Given the description of an element on the screen output the (x, y) to click on. 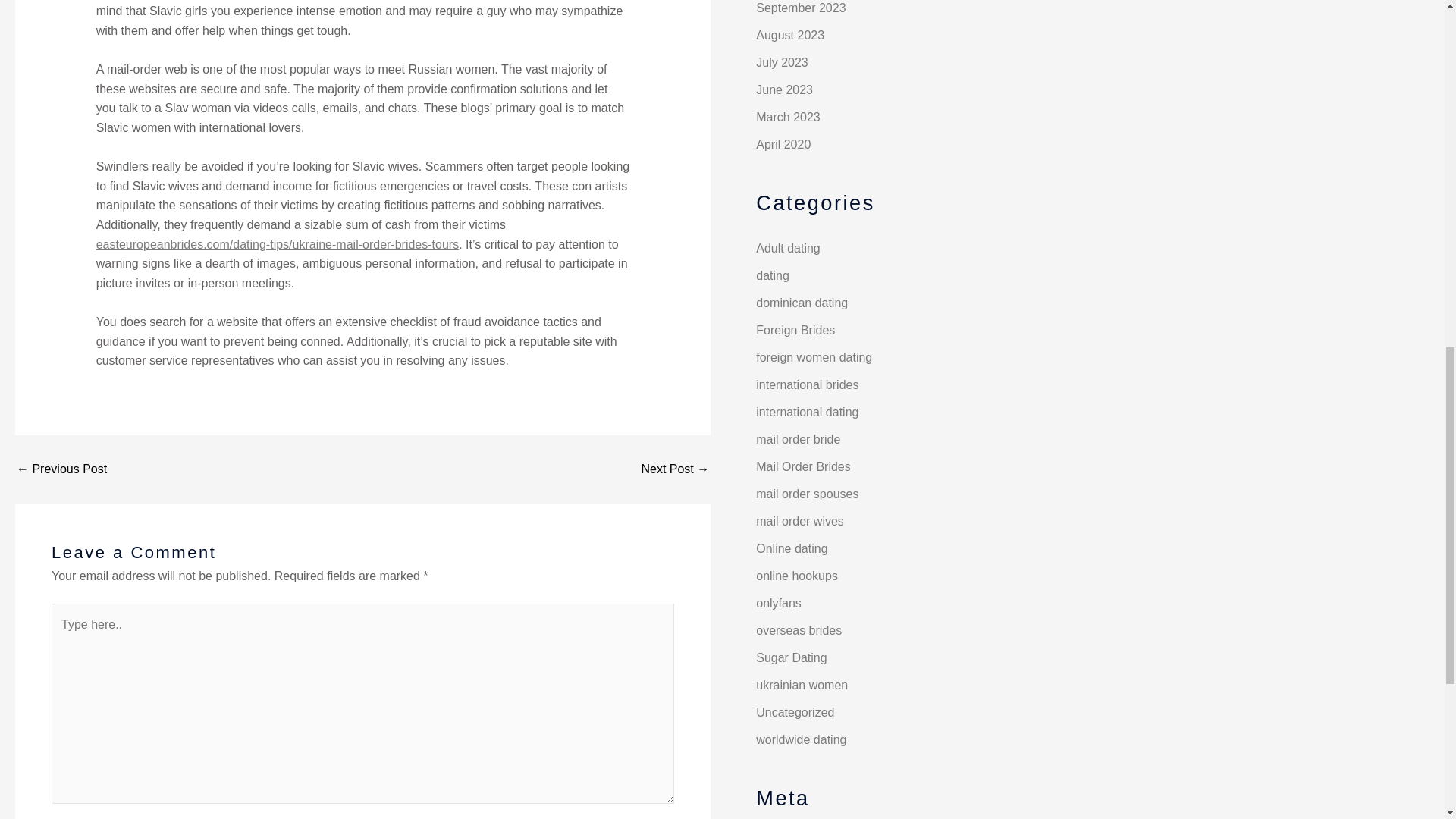
How to locate the Top Opinions for Mail Order Brides Sites (61, 469)
Why Should I Been in a Partnership? (674, 469)
